Given the description of an element on the screen output the (x, y) to click on. 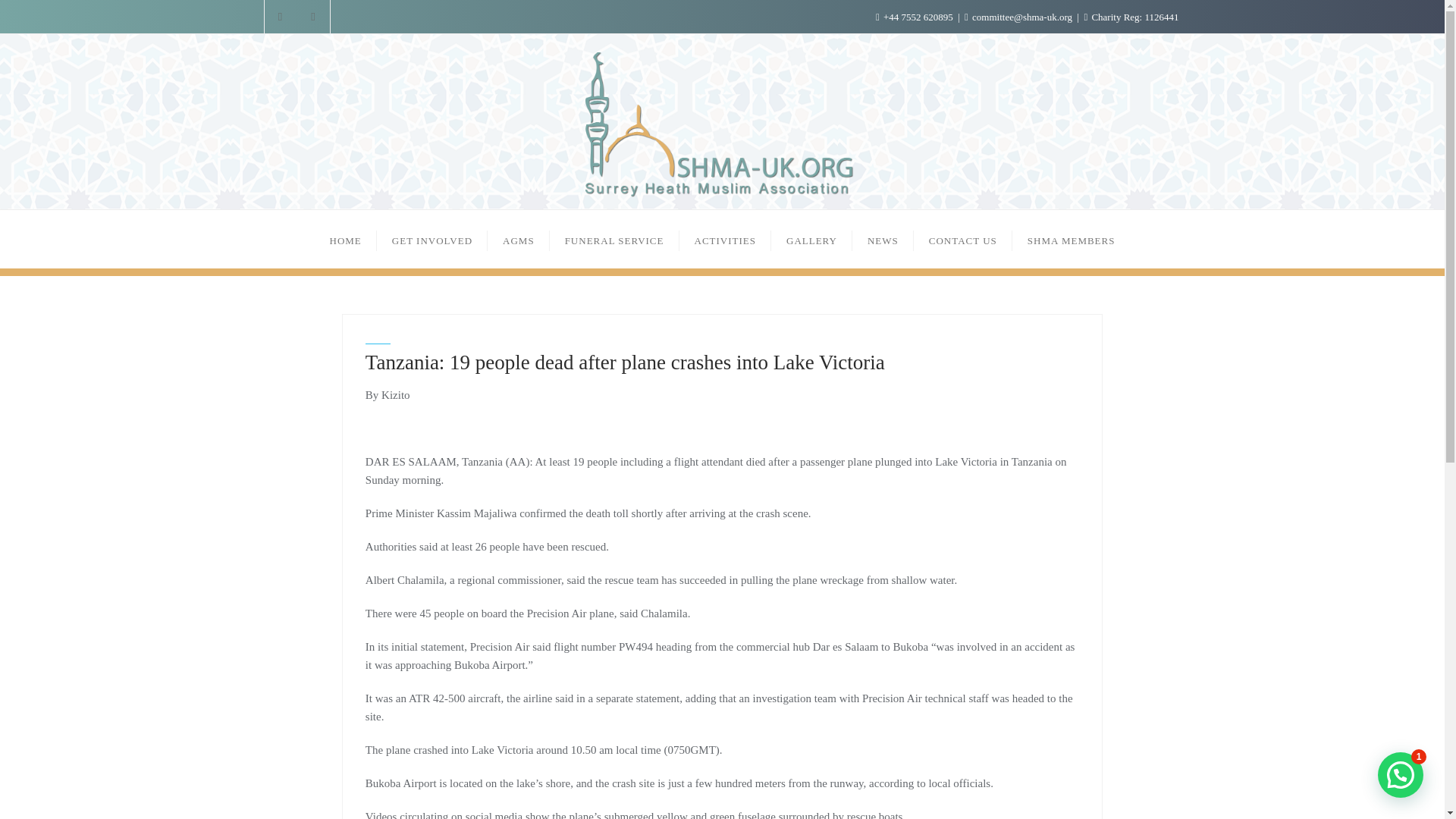
NEWS (882, 238)
AGMS (518, 238)
Charity Reg: 1126441 (1130, 16)
GALLERY (811, 238)
ACTIVITIES (725, 238)
FUNERAL SERVICE (614, 238)
GET INVOLVED (432, 238)
CONTACT US (962, 238)
HOME (345, 238)
SHMA MEMBERS (1071, 238)
